Given the description of an element on the screen output the (x, y) to click on. 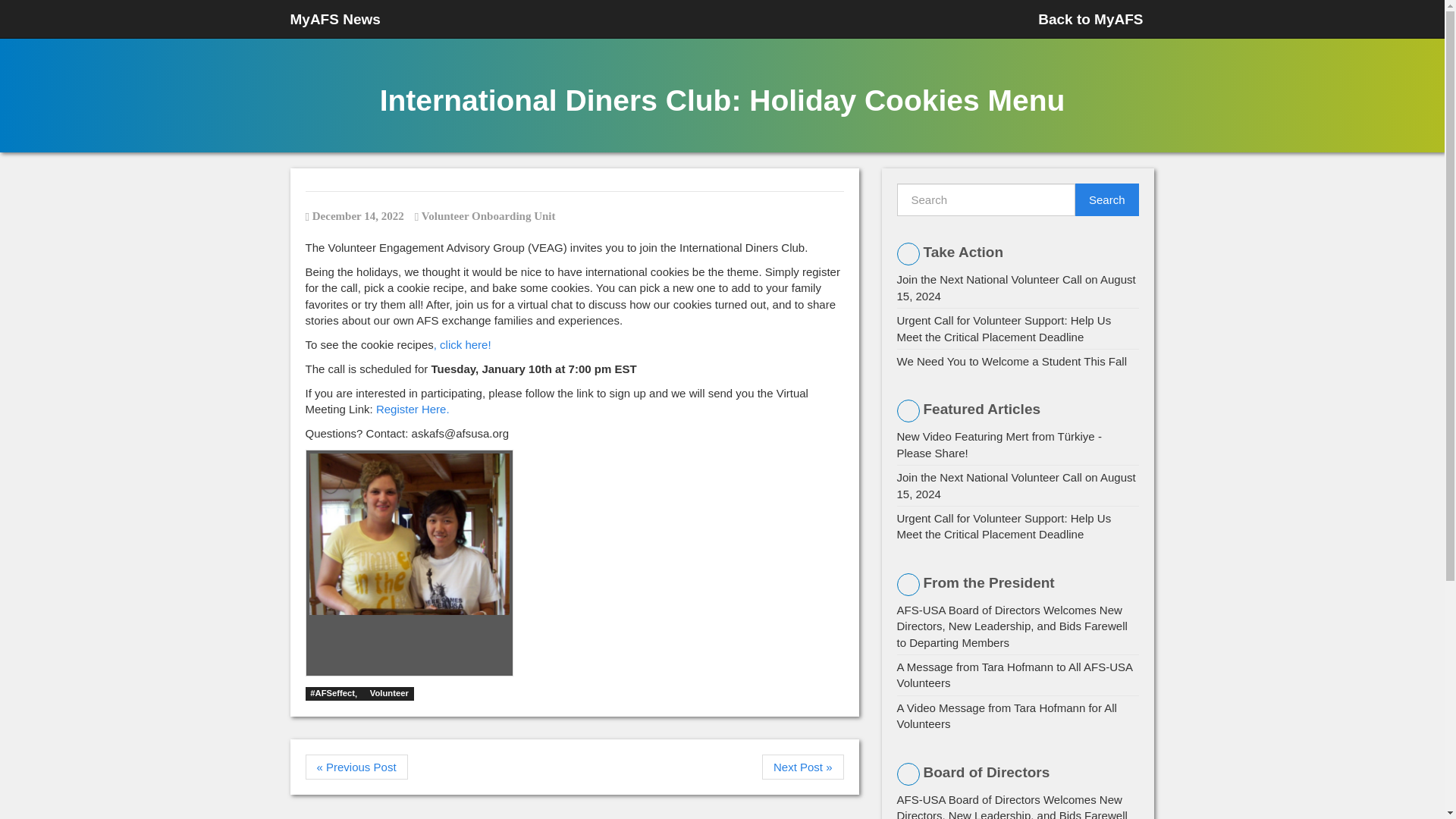
December 14, 2022 (353, 215)
Join the Next National Volunteer Call on August 15, 2024 (1015, 287)
A Message from Tara Hofmann to All AFS-USA Volunteers (1014, 674)
Volunteer (389, 694)
, click here! (462, 344)
Join the Next National Volunteer Call on August 15, 2024 (1015, 484)
News you can use. (335, 18)
Search (1107, 199)
